Given the description of an element on the screen output the (x, y) to click on. 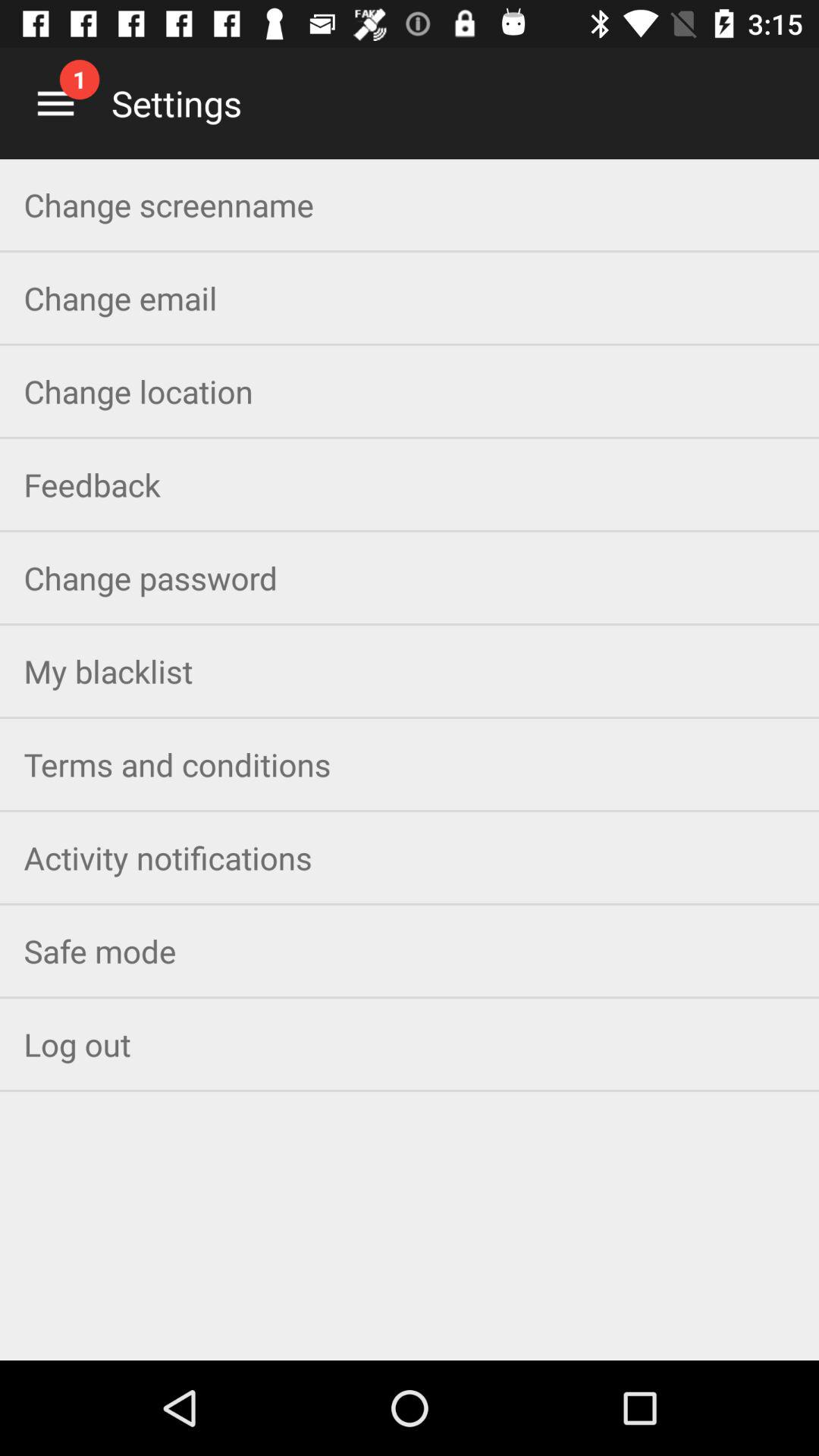
check for notification (55, 103)
